Given the description of an element on the screen output the (x, y) to click on. 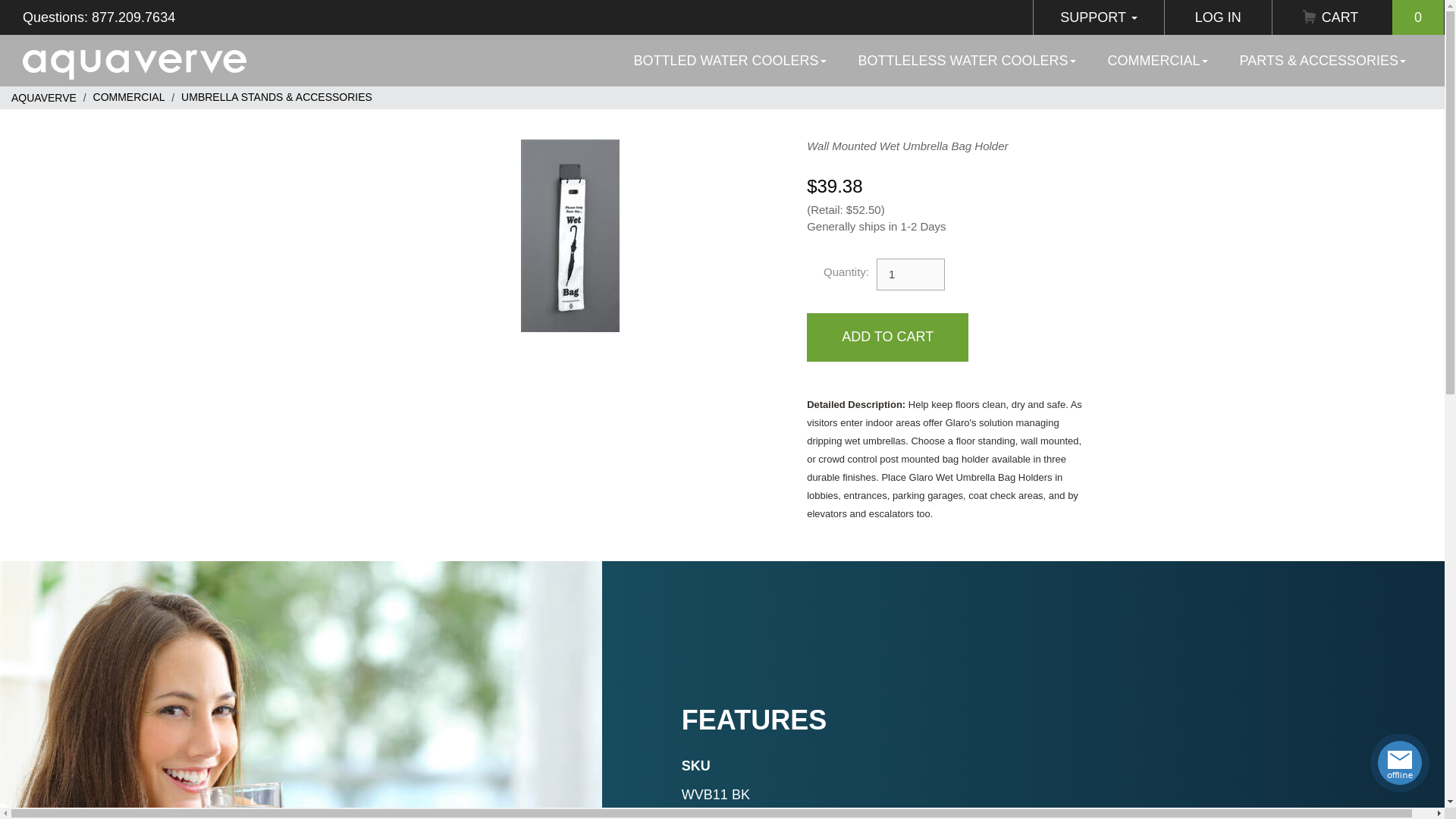
LOG IN (1217, 17)
CART 0 (1358, 17)
Aquaverve home (134, 60)
SUPPORT (1098, 17)
COMMERCIAL (1158, 60)
Commercial (129, 96)
BOTTLELESS WATER COOLERS (967, 60)
Aquaverve (44, 97)
1 (910, 274)
BOTTLED WATER COOLERS (729, 60)
